Given the description of an element on the screen output the (x, y) to click on. 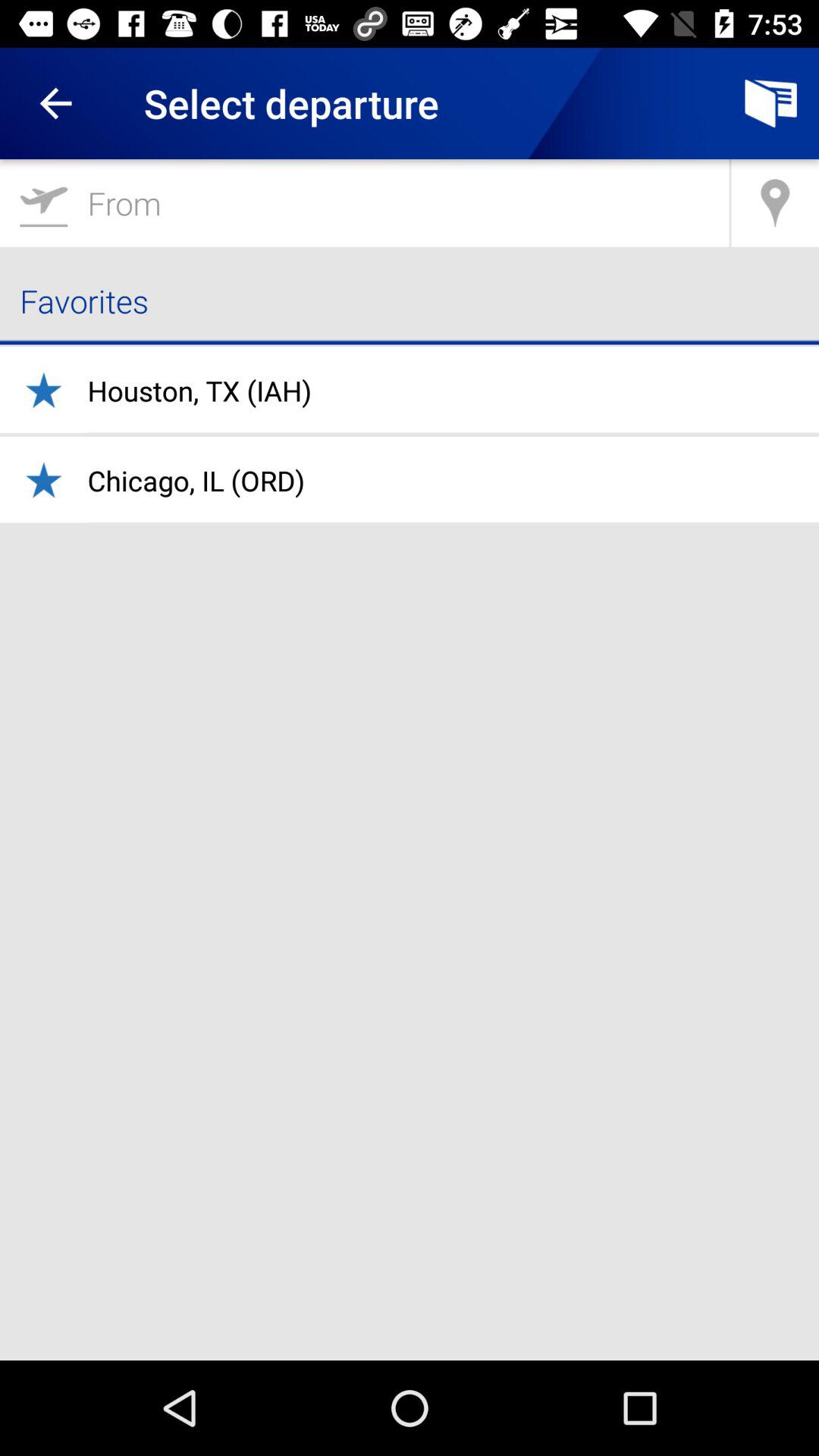
turn on the item above favorites icon (364, 202)
